Given the description of an element on the screen output the (x, y) to click on. 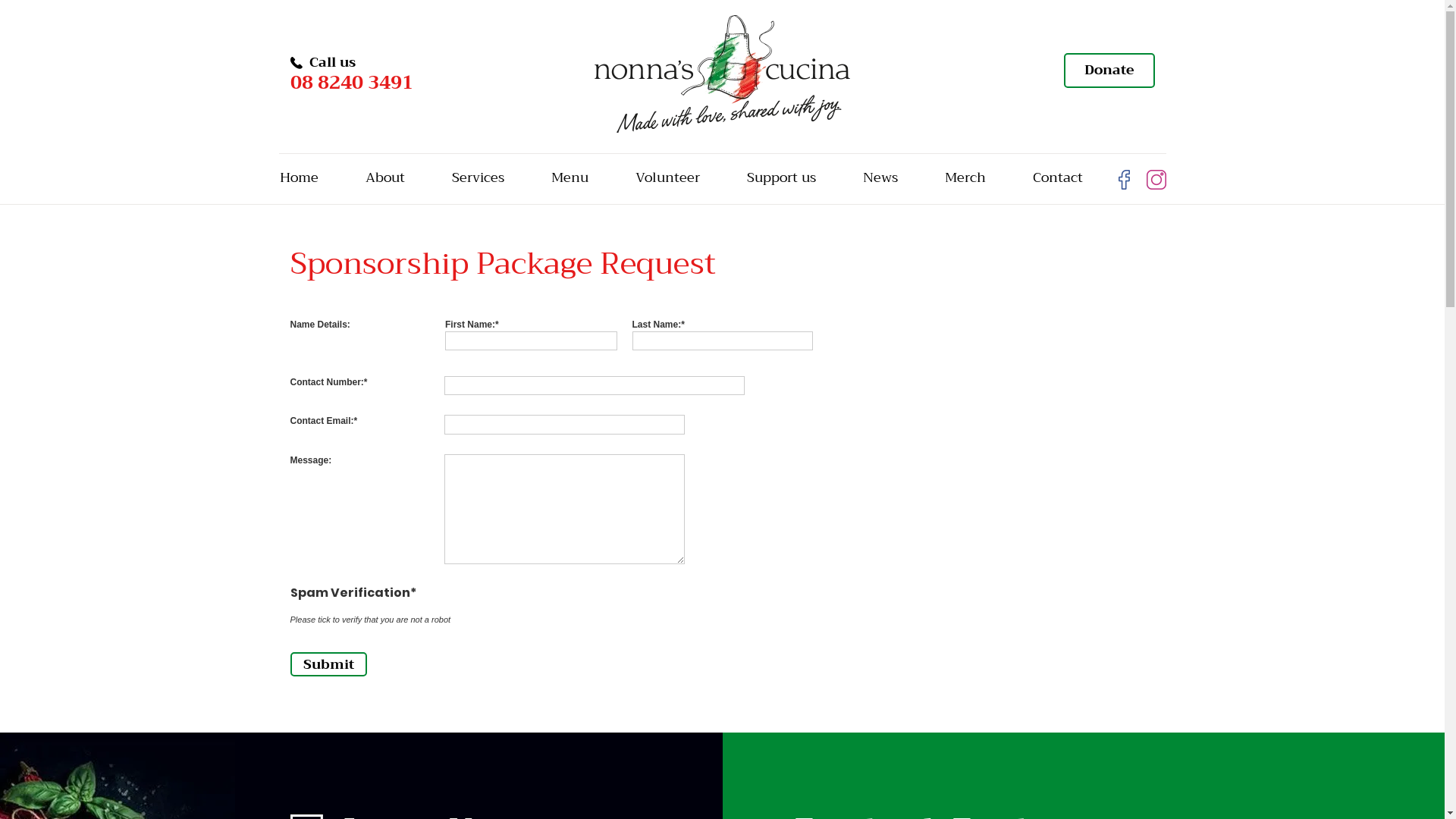
facebook Element type: text (1127, 179)
Submit Element type: text (327, 664)
Support us Element type: text (781, 178)
Call us
08 8240 3491 Element type: text (350, 73)
Contact Element type: text (1056, 178)
Nonna's cucina Element type: hover (722, 72)
About Element type: text (384, 178)
Menu Element type: text (569, 178)
Services Element type: text (477, 178)
Home Element type: text (299, 178)
Volunteer Element type: text (666, 178)
instagram Element type: text (1156, 179)
Merch Element type: text (964, 178)
News Element type: text (879, 178)
Donate Element type: text (1108, 70)
